Given the description of an element on the screen output the (x, y) to click on. 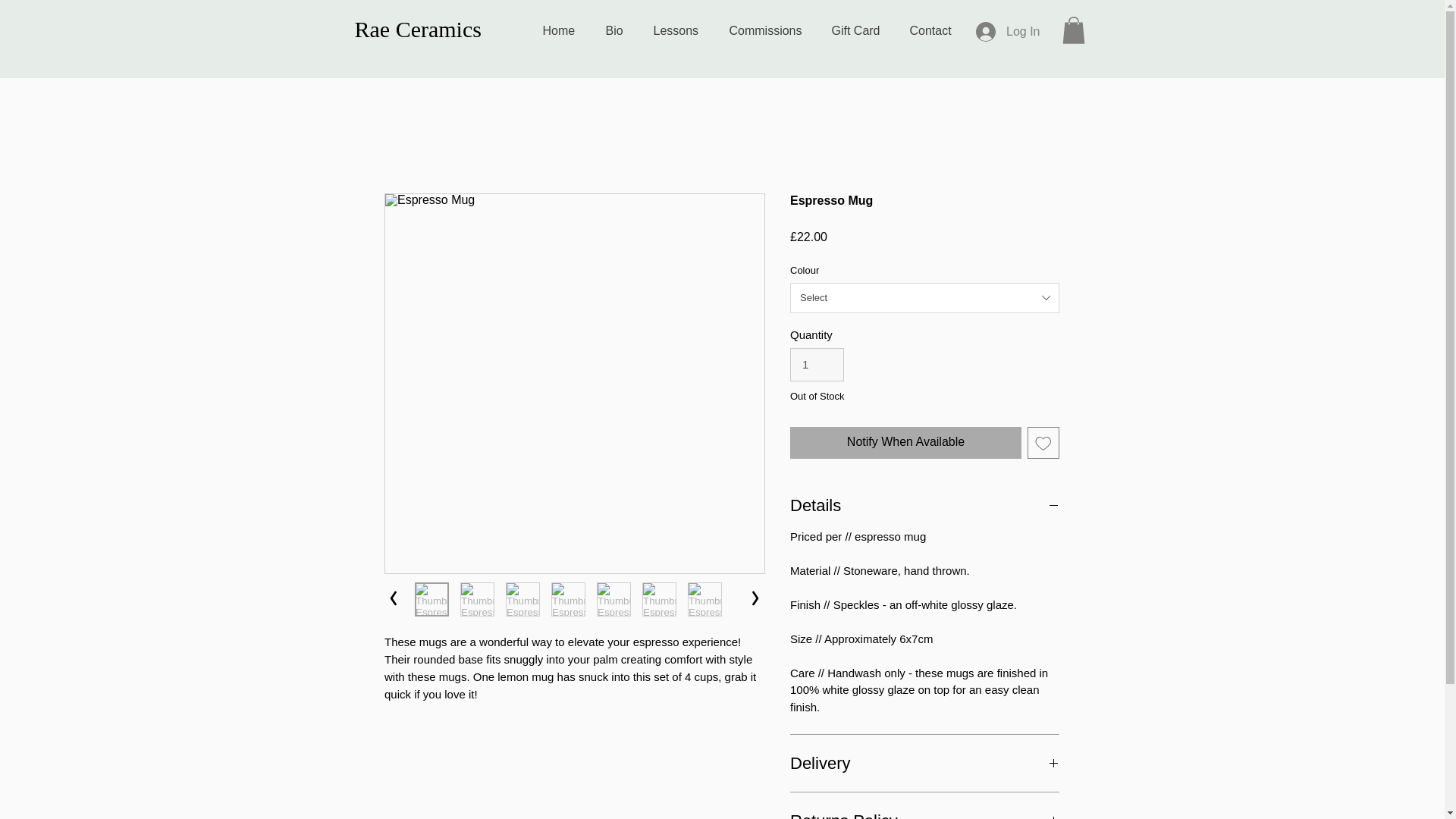
1 (817, 364)
Details (924, 505)
Delivery (924, 762)
Returns Policy (924, 814)
Gift Card (862, 30)
Contact (938, 30)
Select (924, 297)
Lessons (684, 30)
Commissions (773, 30)
Log In (1007, 31)
